Given the description of an element on the screen output the (x, y) to click on. 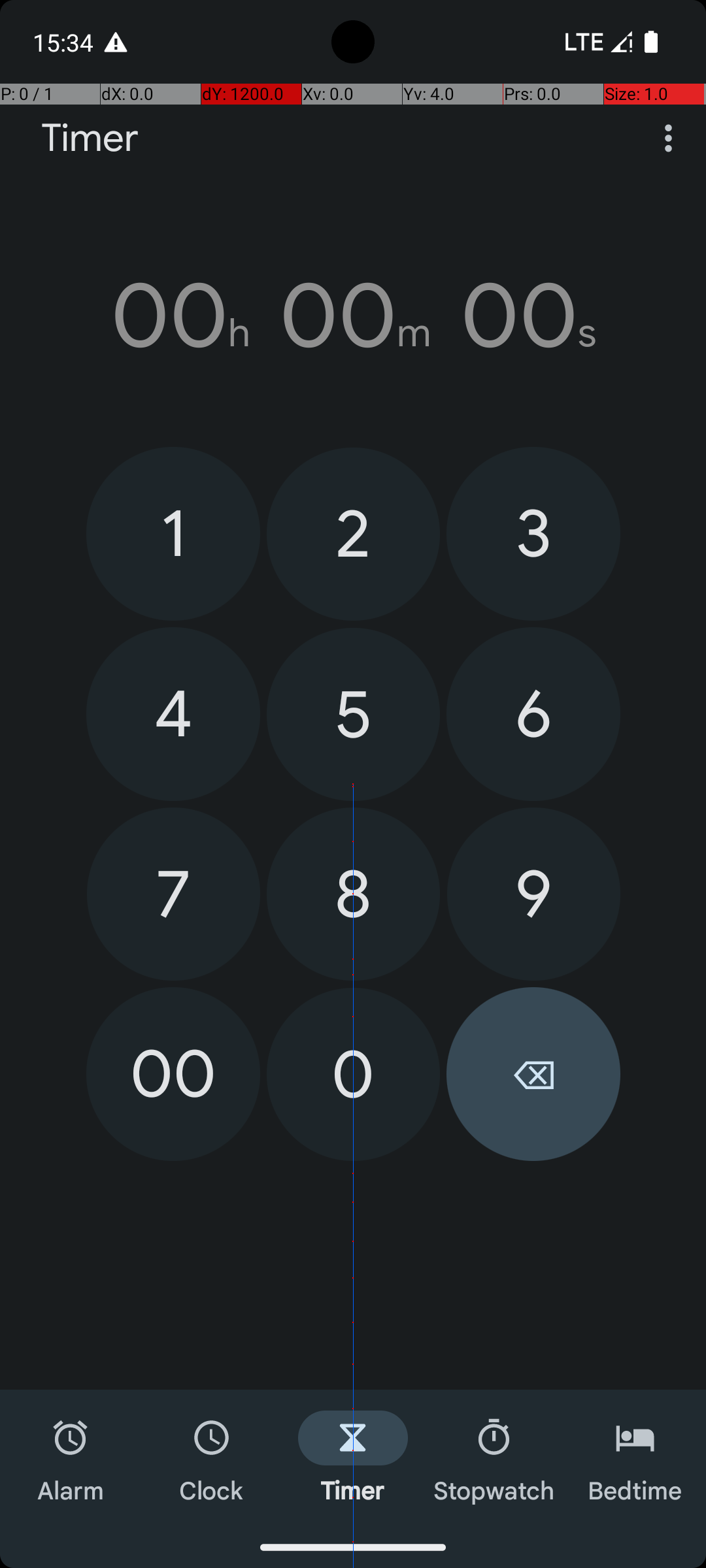
00h 00m 00s Element type: android.widget.TextView (353, 315)
1 Element type: android.widget.Button (173, 533)
2 Element type: android.widget.Button (352, 533)
3 Element type: android.widget.Button (533, 533)
4 Element type: android.widget.Button (173, 713)
5 Element type: android.widget.Button (352, 713)
6 Element type: android.widget.Button (533, 713)
7 Element type: android.widget.Button (173, 893)
8 Element type: android.widget.Button (352, 893)
9 Element type: android.widget.Button (533, 893)
0 Element type: android.widget.Button (352, 1073)
⌫ Element type: android.widget.Button (533, 1073)
Phone one bar. Element type: android.widget.FrameLayout (595, 41)
